Given the description of an element on the screen output the (x, y) to click on. 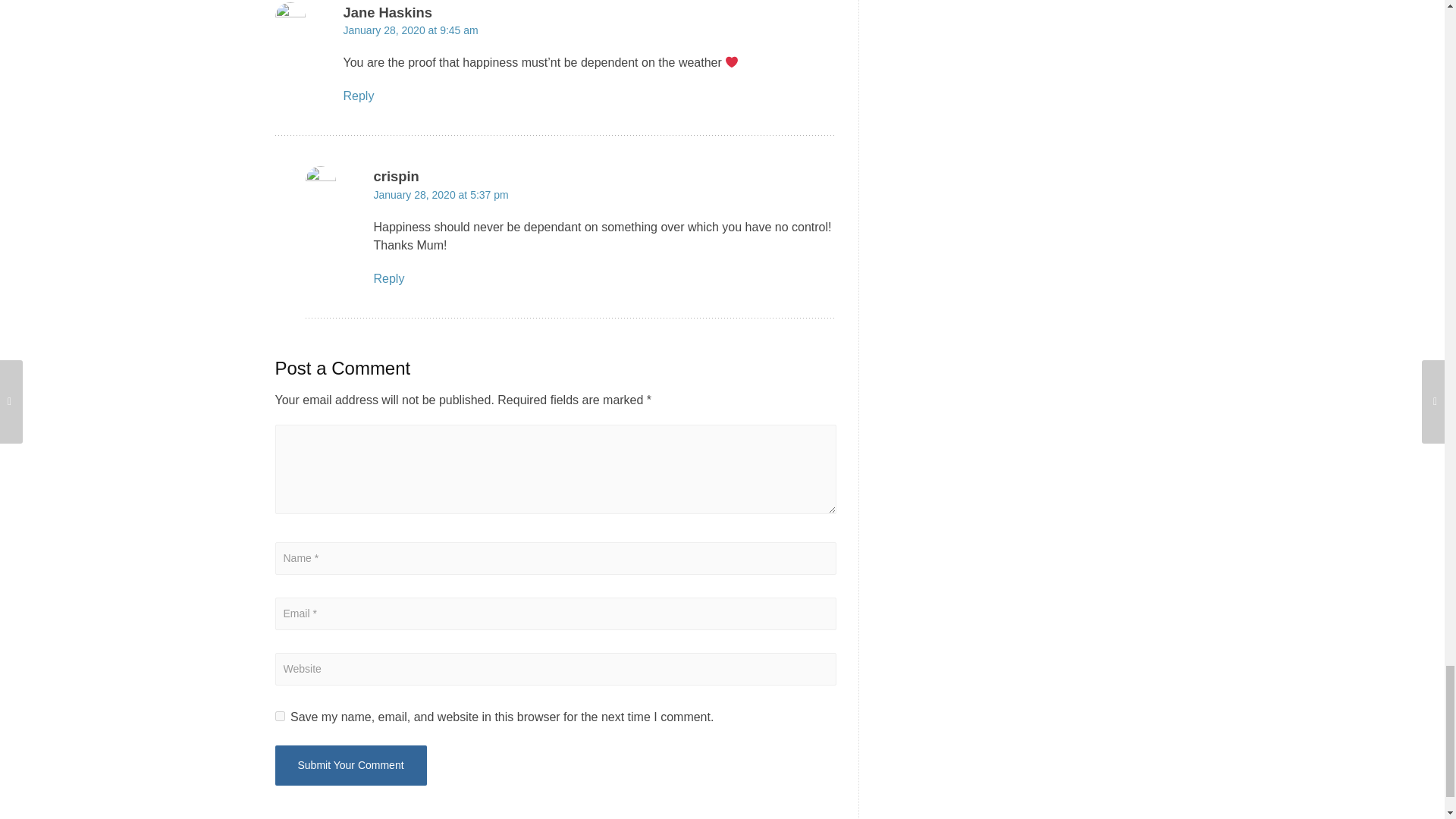
Submit Your Comment (350, 764)
yes (279, 716)
